Given the description of an element on the screen output the (x, y) to click on. 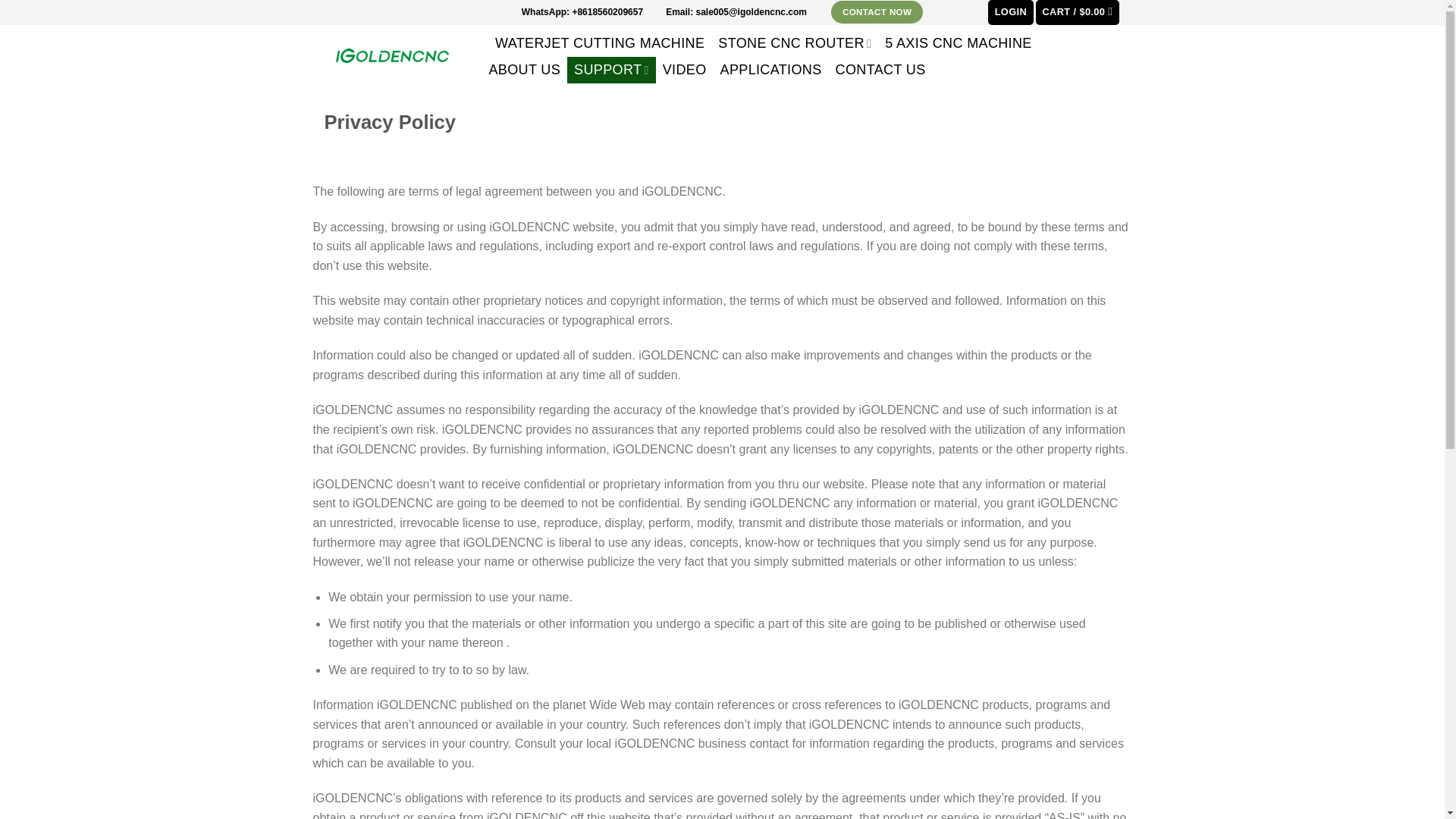
VIDEO (684, 69)
LOGIN (1010, 12)
CONTACT NOW (877, 11)
STONE CNC ROUTER (794, 43)
Cart (1077, 12)
WATERJET CUTTING MACHINE (599, 43)
ABOUT US (524, 69)
iGoldencnc (392, 55)
CONTACT US (880, 69)
5 AXIS CNC MACHINE (958, 43)
APPLICATIONS (770, 69)
SUPPORT (611, 69)
